Given the description of an element on the screen output the (x, y) to click on. 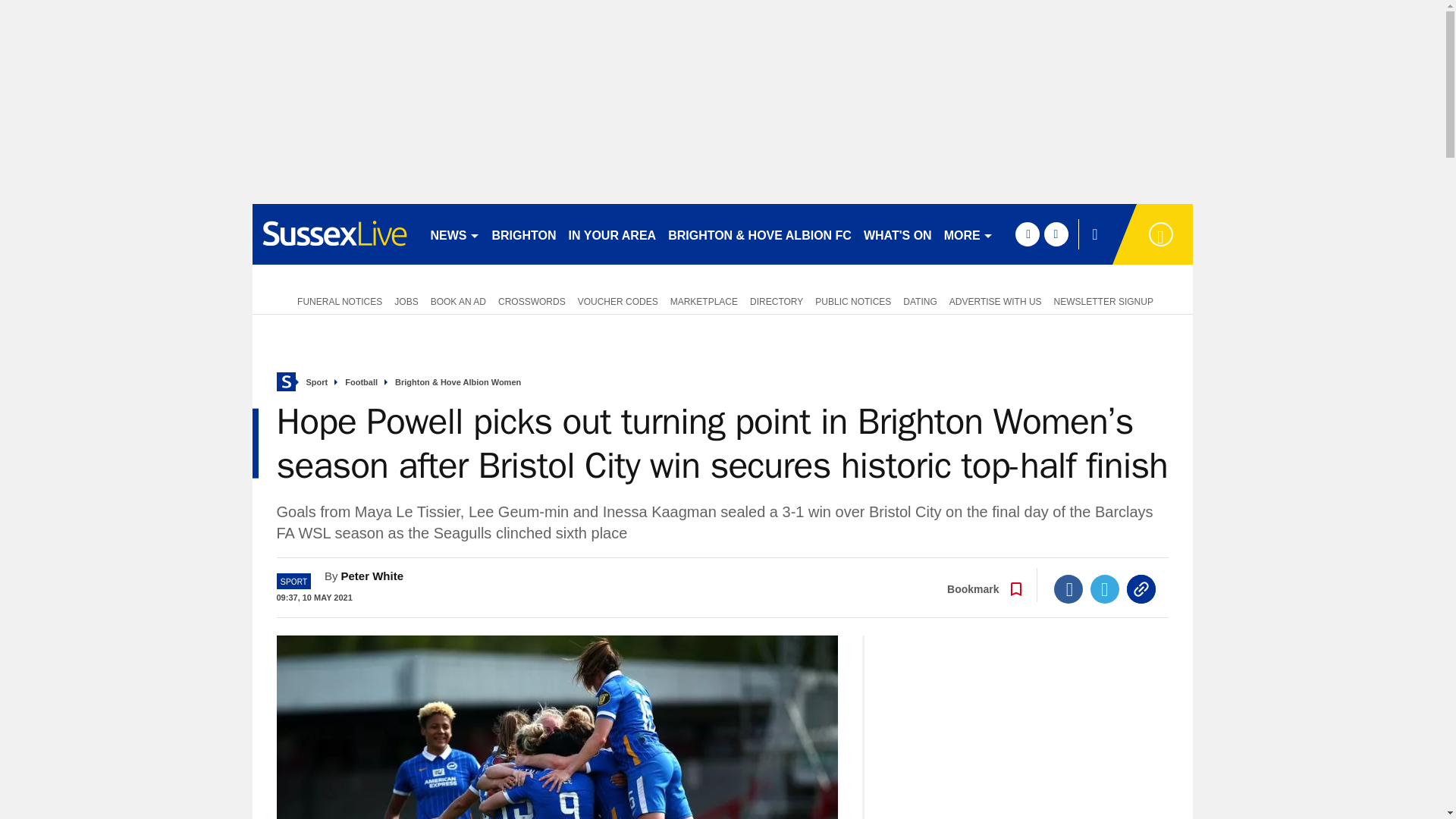
NEWS (455, 233)
Facebook (1068, 588)
FUNERAL NOTICES (336, 300)
facebook (1026, 233)
CROSSWORDS (532, 300)
BRIGHTON (523, 233)
PUBLIC NOTICES (852, 300)
twitter (1055, 233)
VOUCHER CODES (617, 300)
MORE (967, 233)
